Given the description of an element on the screen output the (x, y) to click on. 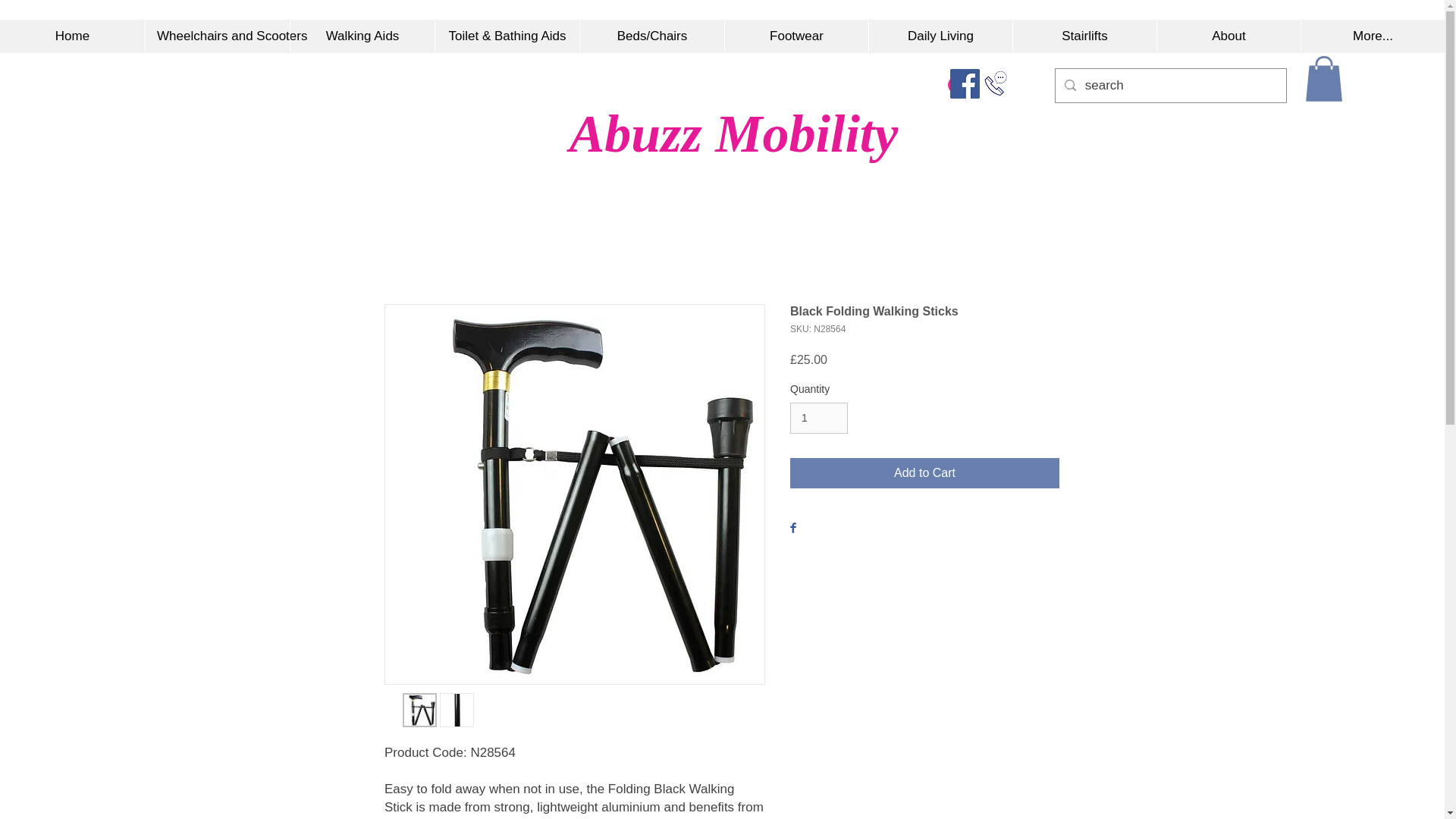
Daily Living (939, 36)
About (1228, 36)
Wheelchairs and Scooters (216, 36)
1 (818, 418)
Home (72, 36)
Walking Aids (361, 36)
Footwear (795, 36)
Log In (983, 84)
Stairlifts (1083, 36)
